Given the description of an element on the screen output the (x, y) to click on. 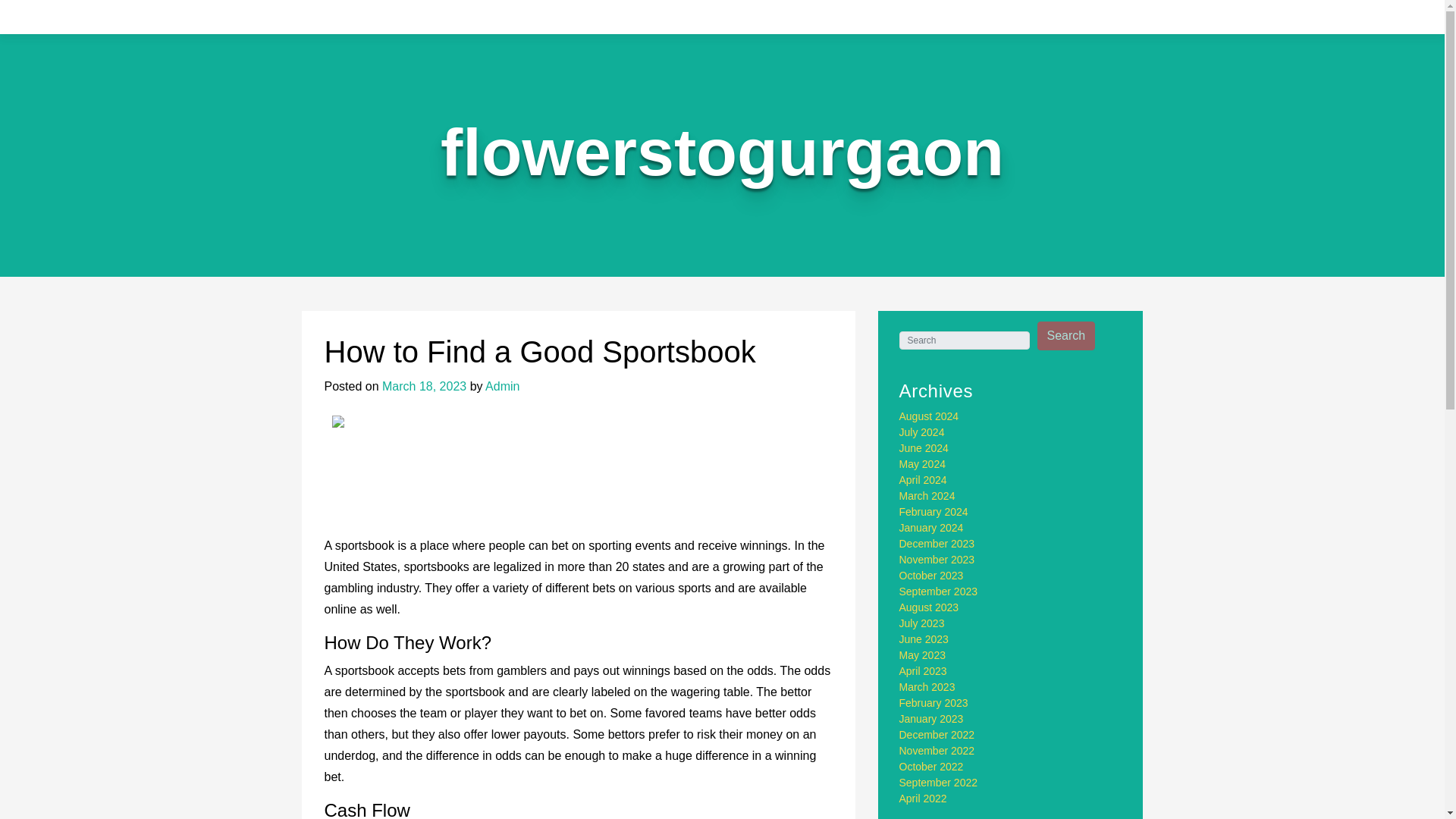
November 2023 (937, 559)
March 2023 (927, 686)
November 2022 (937, 750)
March 18, 2023 (423, 386)
April 2024 (923, 480)
May 2023 (921, 654)
January 2024 (931, 527)
April 2022 (923, 798)
May 2024 (921, 463)
April 2023 (923, 671)
